Given the description of an element on the screen output the (x, y) to click on. 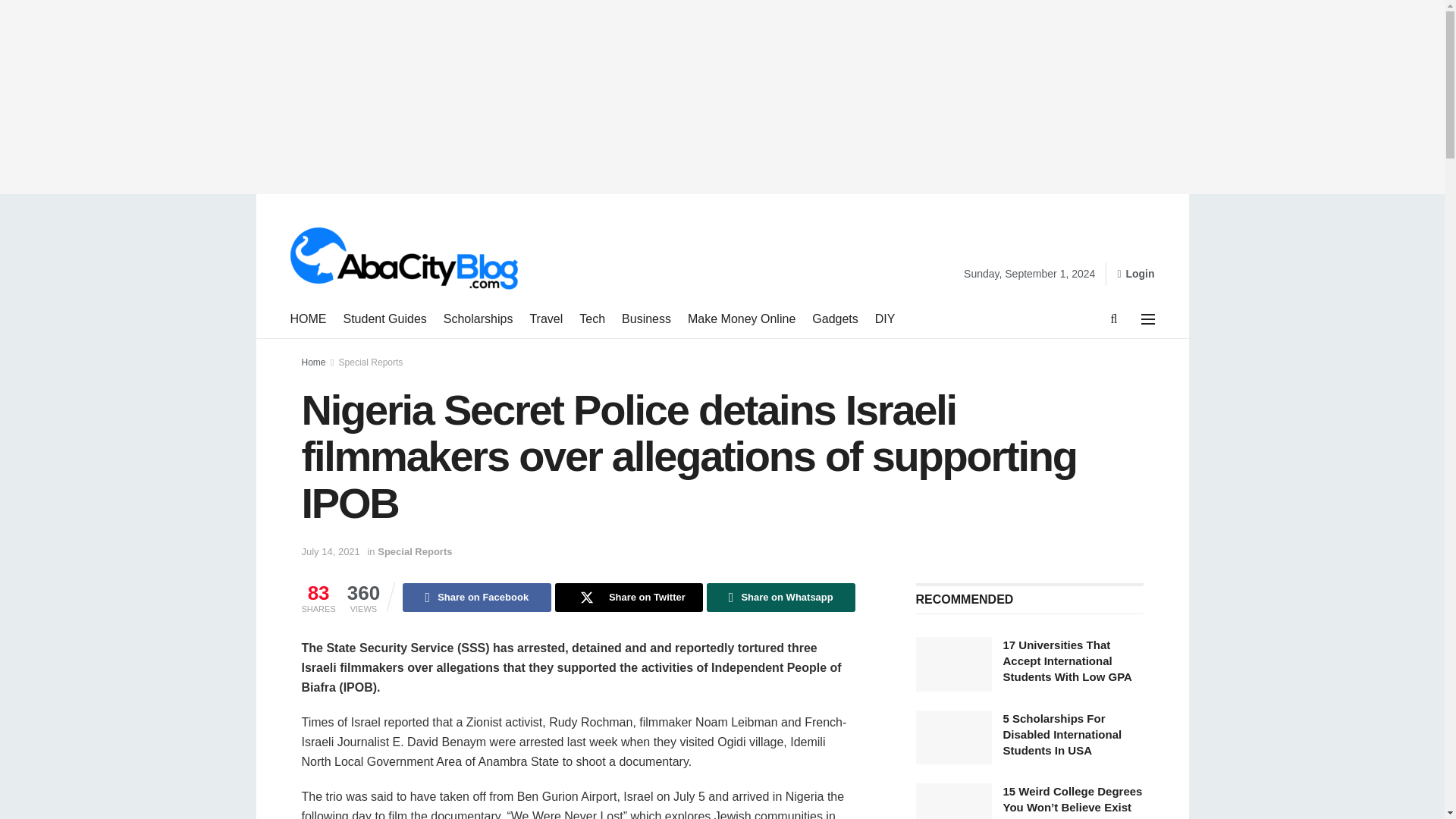
Home (313, 362)
Travel (545, 318)
Special Reports (371, 362)
Make Money Online (740, 318)
Business (646, 318)
Gadgets (834, 318)
HOME (307, 318)
Share on Facebook (476, 597)
Scholarships (478, 318)
Login (1135, 273)
